Given the description of an element on the screen output the (x, y) to click on. 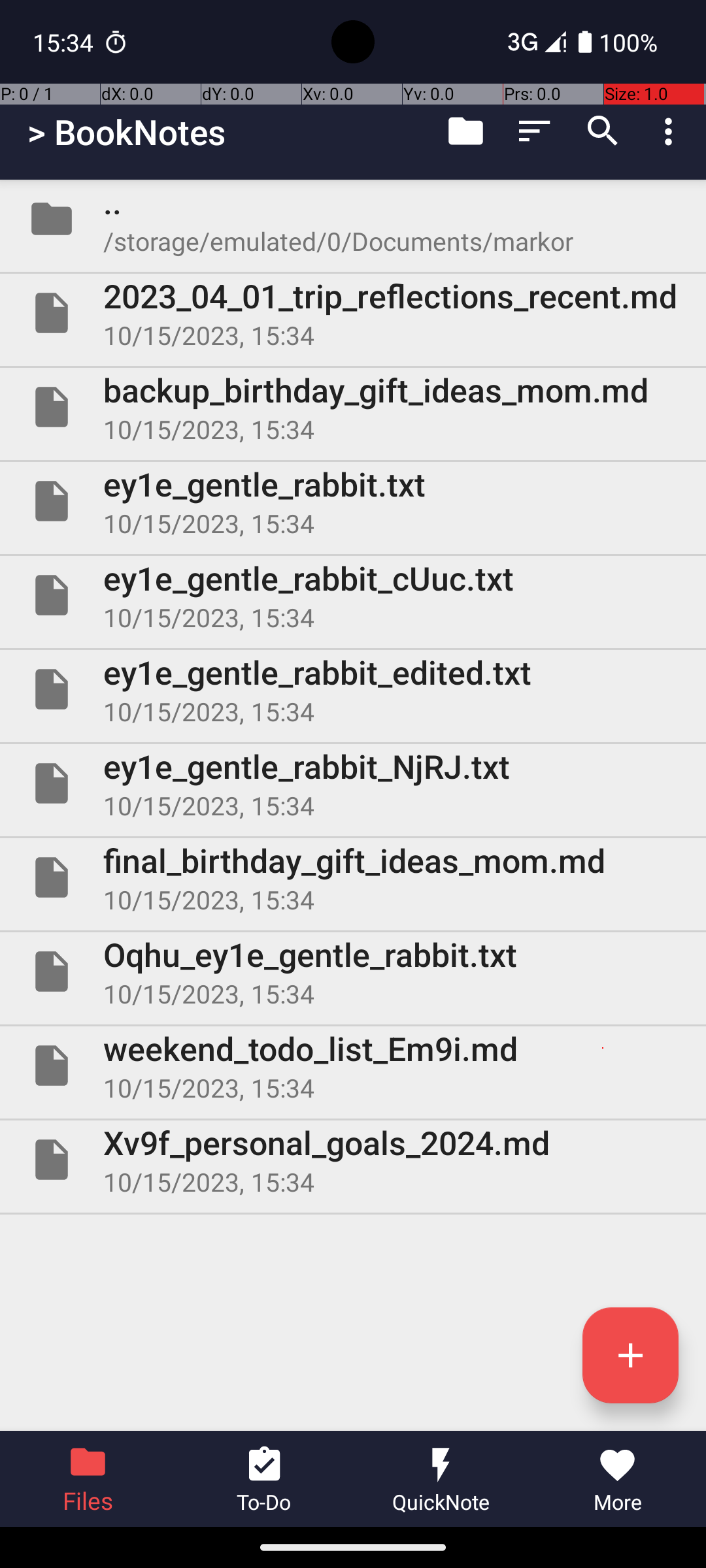
> BookNotes Element type: android.widget.TextView (126, 131)
Folder .. /storage/emulated/0/Documents Element type: android.widget.LinearLayout (353, 218)
File 2023_04_01_trip_reflections_recent.md 10/15/2023, 15:34 Element type: android.widget.LinearLayout (353, 312)
File backup_birthday_gift_ideas_mom.md 10/15/2023, 15:34 Element type: android.widget.LinearLayout (353, 406)
File ey1e_gentle_rabbit.txt  Element type: android.widget.LinearLayout (353, 500)
File ey1e_gentle_rabbit_cUuc.txt  Element type: android.widget.LinearLayout (353, 594)
File ey1e_gentle_rabbit_edited.txt  Element type: android.widget.LinearLayout (353, 689)
File ey1e_gentle_rabbit_NjRJ.txt  Element type: android.widget.LinearLayout (353, 783)
File final_birthday_gift_ideas_mom.md  Element type: android.widget.LinearLayout (353, 877)
File Oqhu_ey1e_gentle_rabbit.txt  Element type: android.widget.LinearLayout (353, 971)
File weekend_todo_list_Em9i.md  Element type: android.widget.LinearLayout (353, 1065)
File Xv9f_personal_goals_2024.md  Element type: android.widget.LinearLayout (353, 1159)
